Given the description of an element on the screen output the (x, y) to click on. 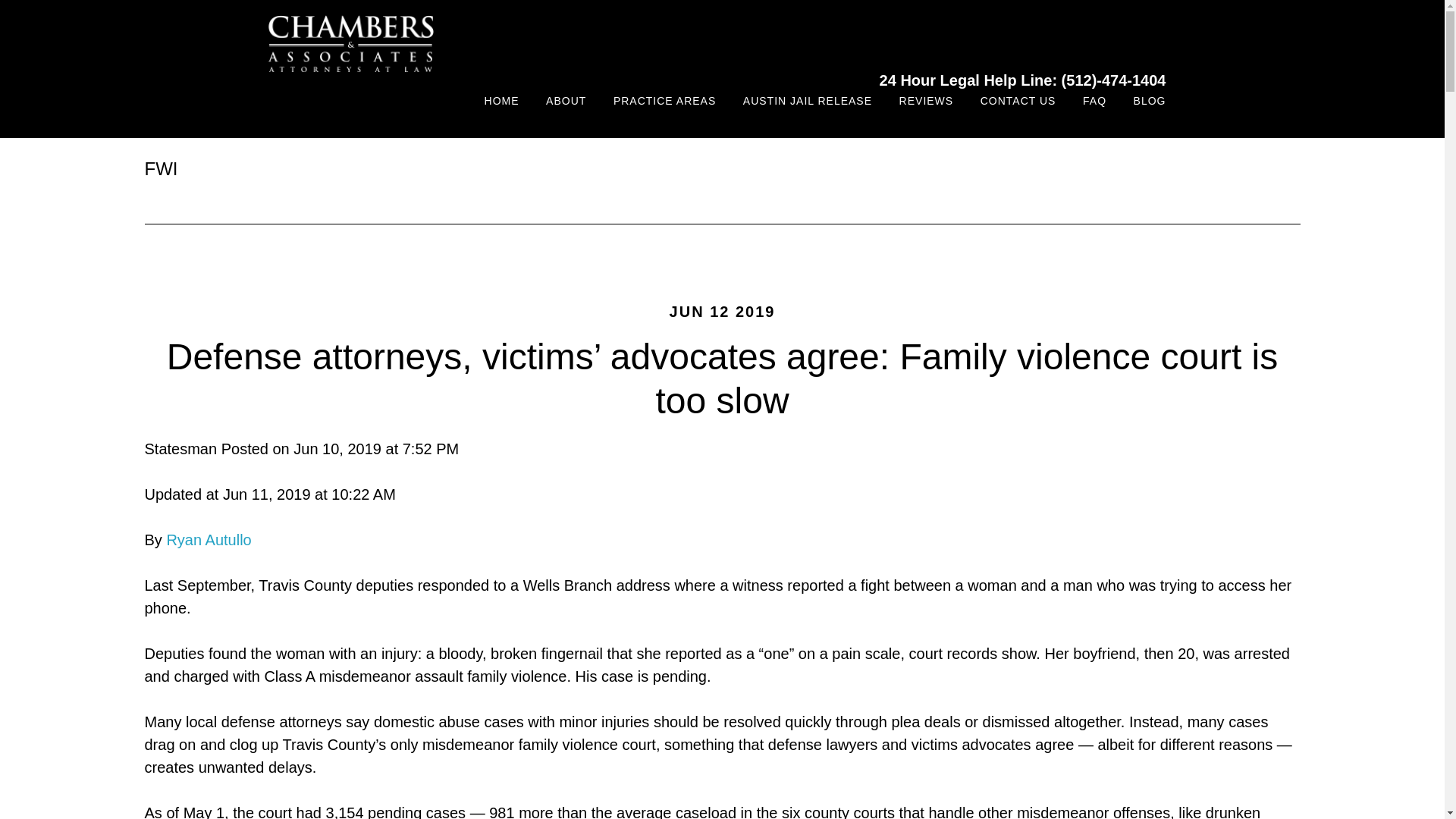
AUSTIN JAIL RELEASE (807, 101)
FAQ (1094, 101)
HOME (502, 101)
Ryan Autullo (207, 539)
CONTACT US (1018, 101)
PRACTICE AREAS (664, 101)
REVIEWS (926, 101)
BLOG (1149, 101)
ABOUT (565, 101)
